Given the description of an element on the screen output the (x, y) to click on. 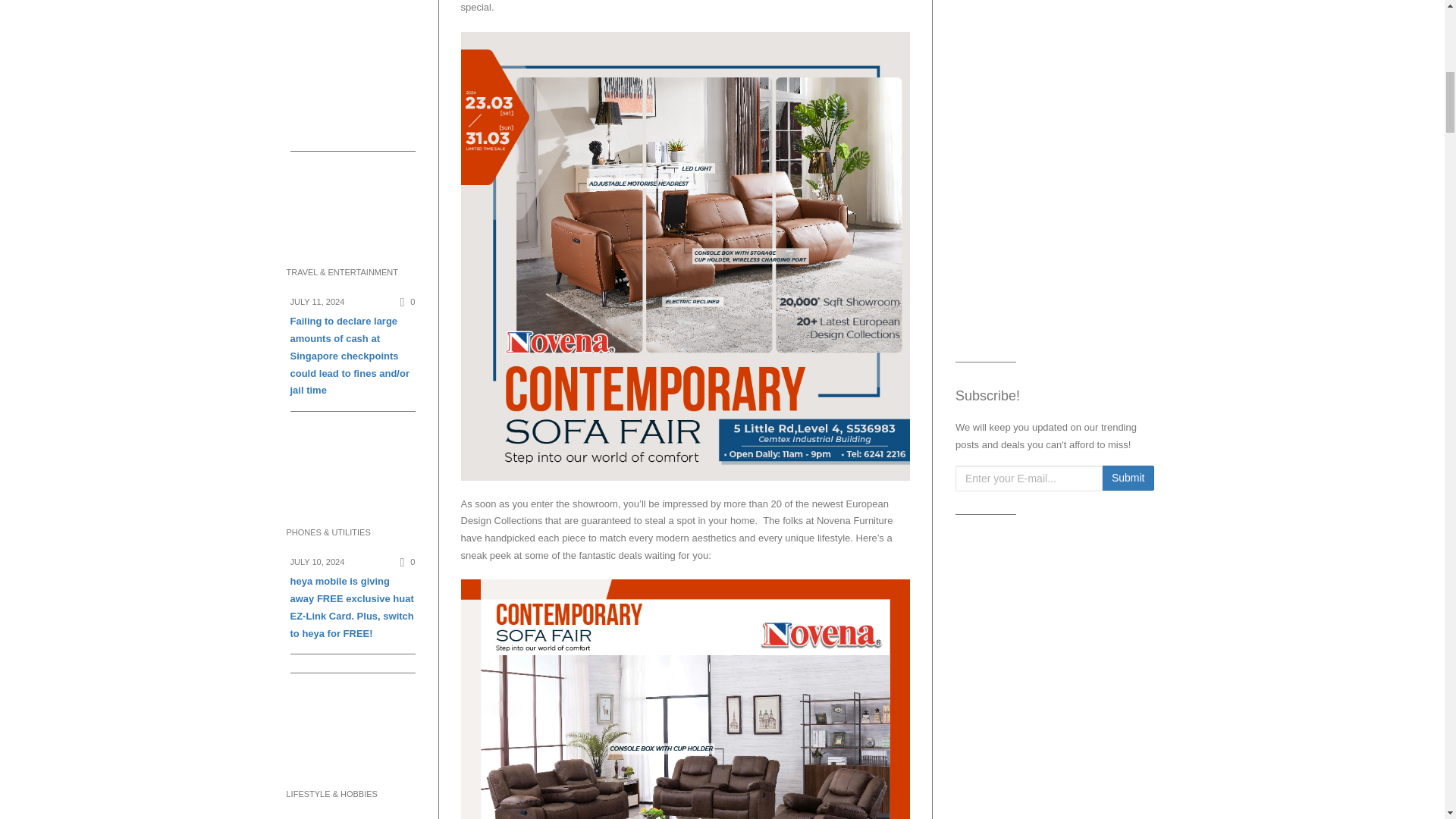
Submit (1128, 478)
